Given the description of an element on the screen output the (x, y) to click on. 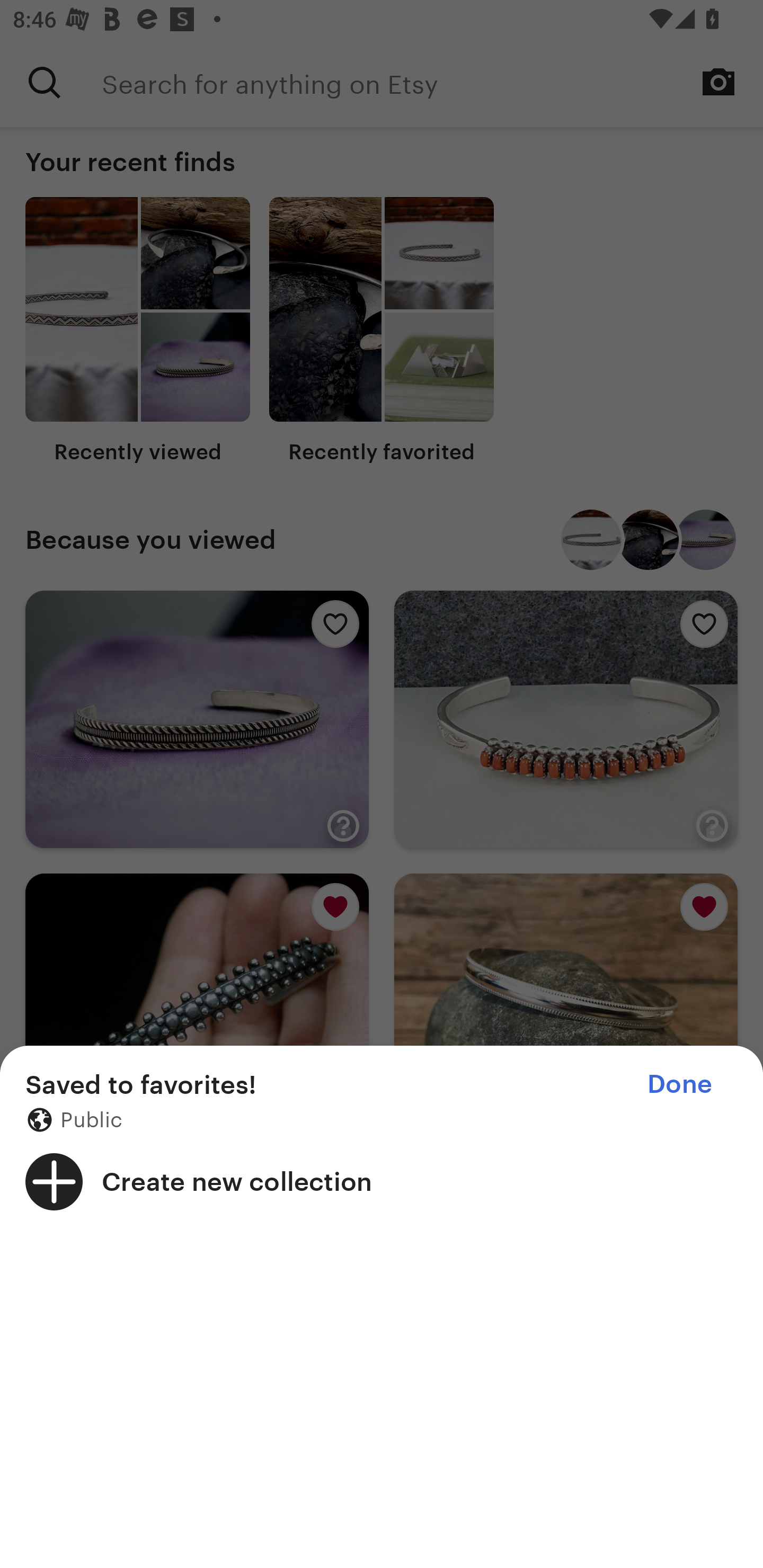
Done (679, 1083)
Create new collection (381, 1181)
